Given the description of an element on the screen output the (x, y) to click on. 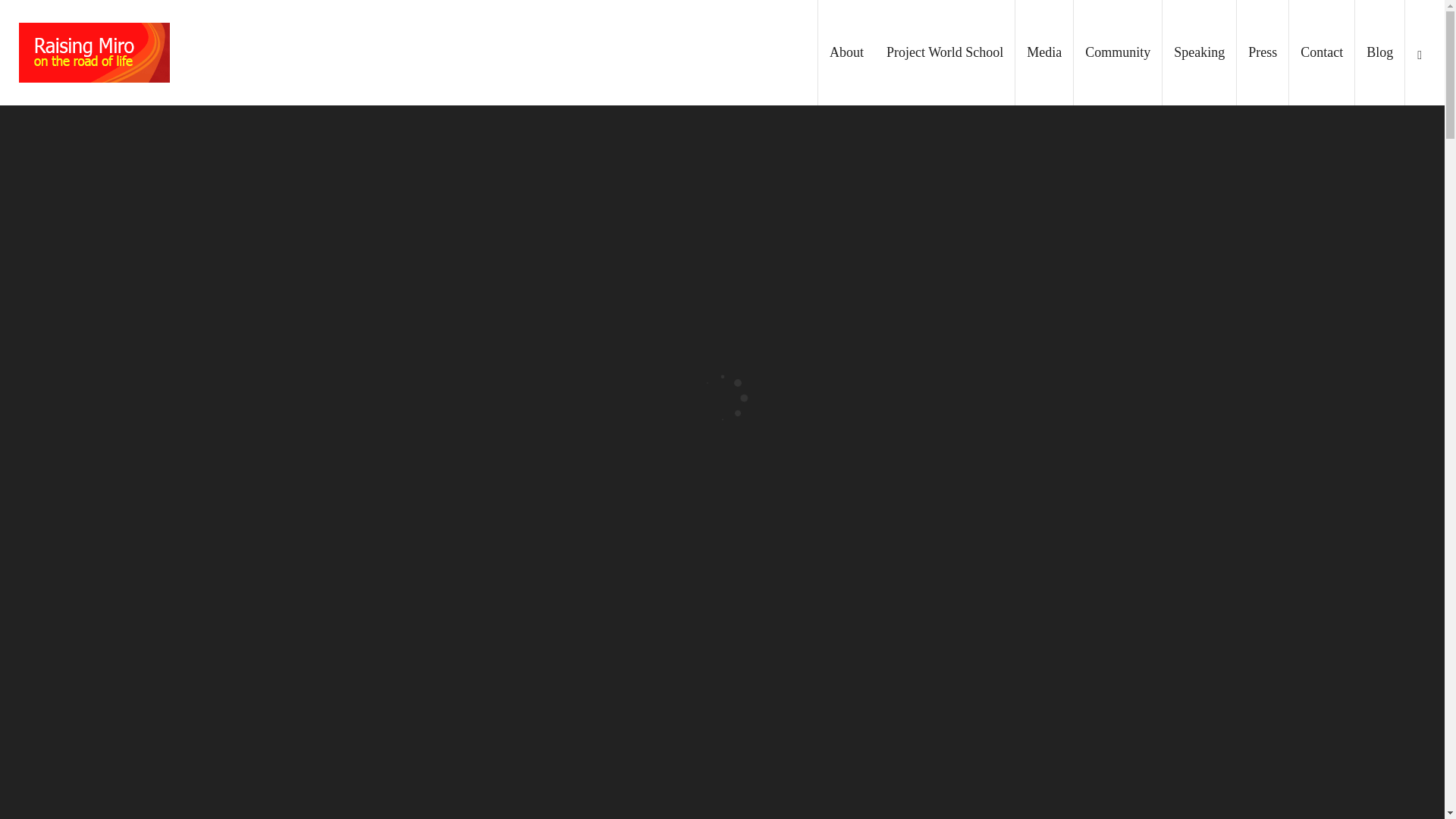
Project World School (944, 52)
